Given the description of an element on the screen output the (x, y) to click on. 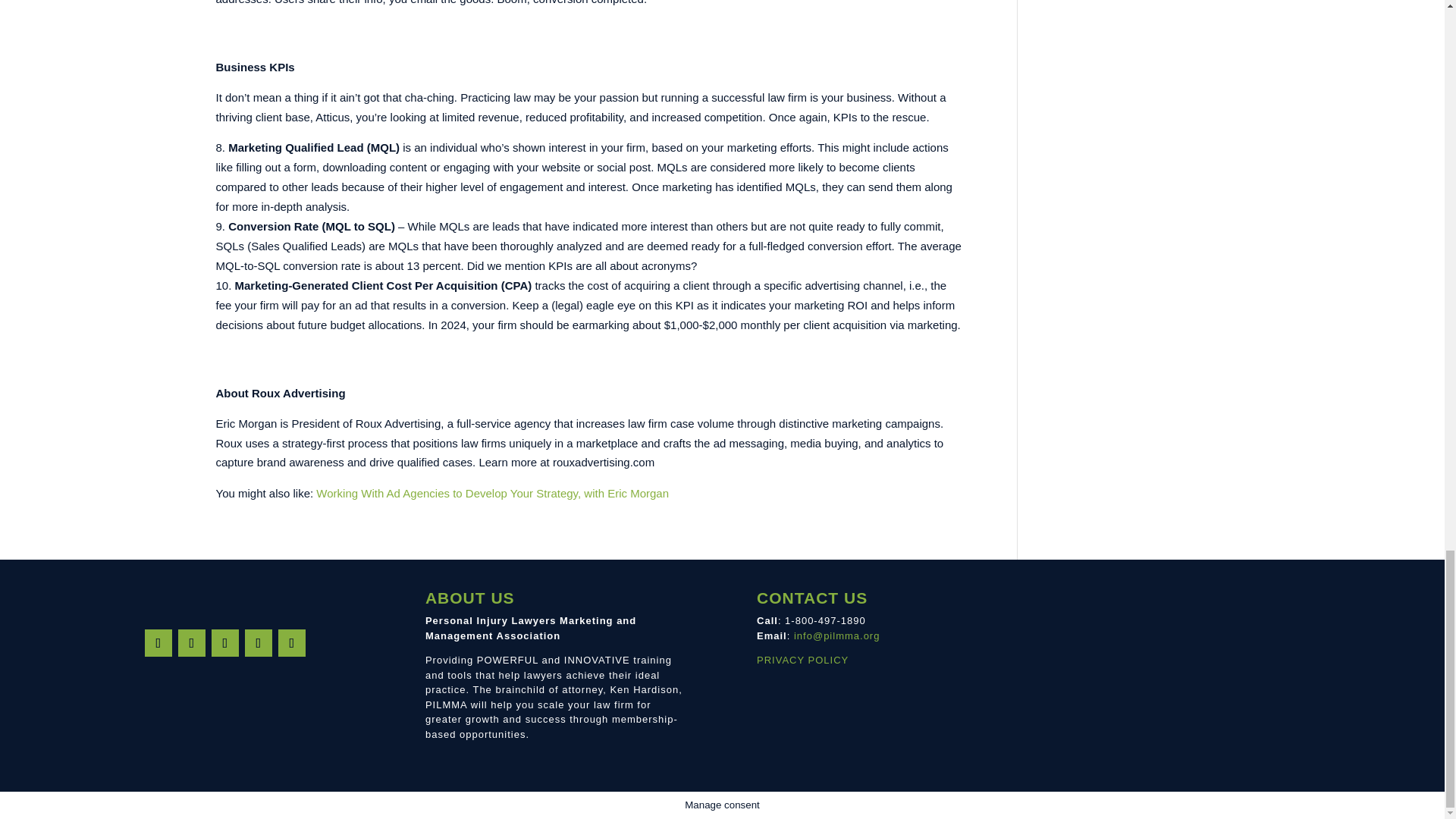
Follow on X (224, 642)
Follow on Facebook (157, 642)
Follow on LinkedIn (258, 642)
Follow on Youtube (291, 642)
Pilmma Logo (225, 596)
PRIVACY POLICY (802, 659)
Follow on Instagram (191, 642)
